Given the description of an element on the screen output the (x, y) to click on. 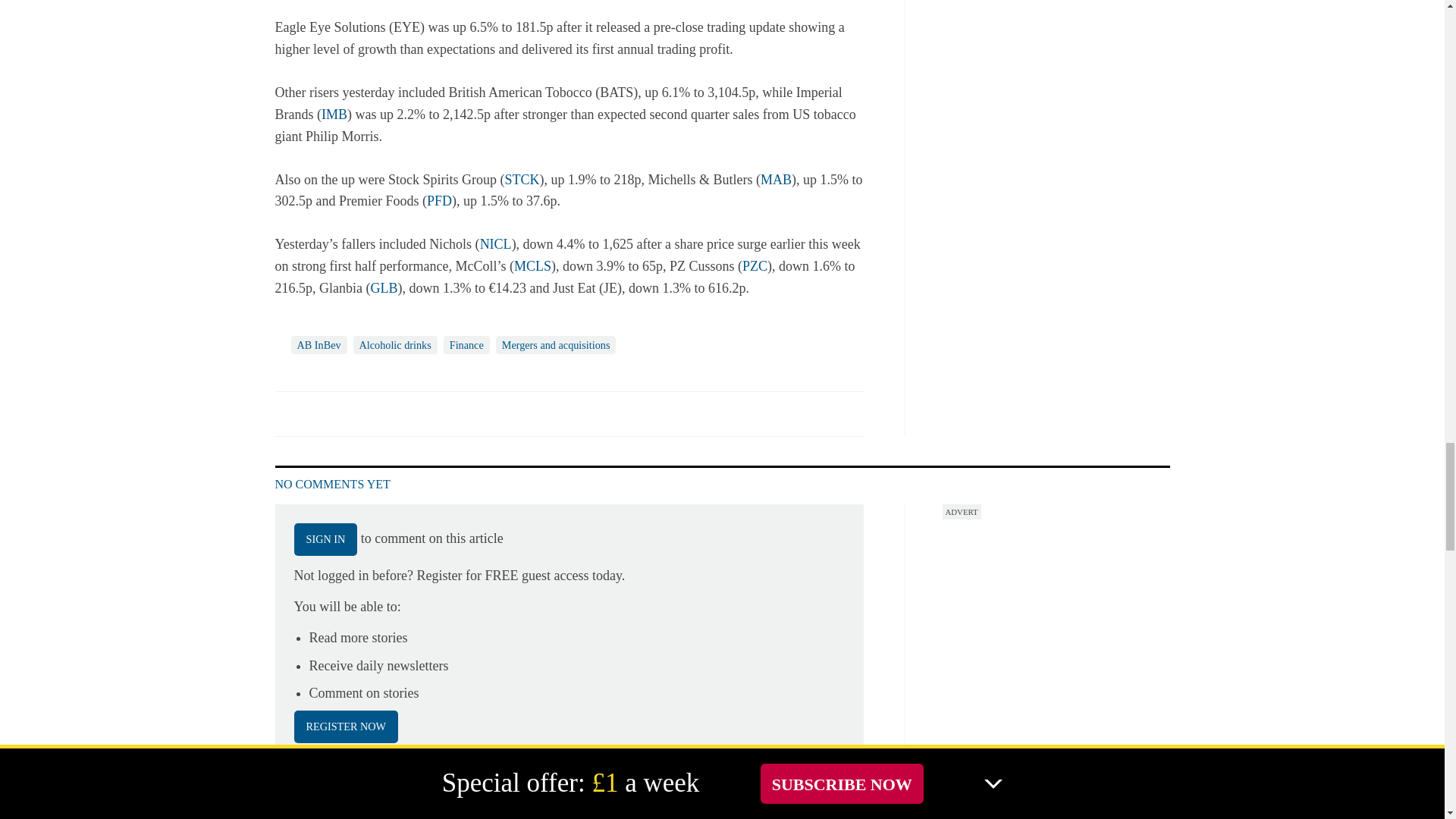
No comments (840, 421)
Share this on Facebook (288, 412)
Email this article (386, 412)
Share this on Twitter (320, 412)
Share this on Linked in (352, 412)
